Given the description of an element on the screen output the (x, y) to click on. 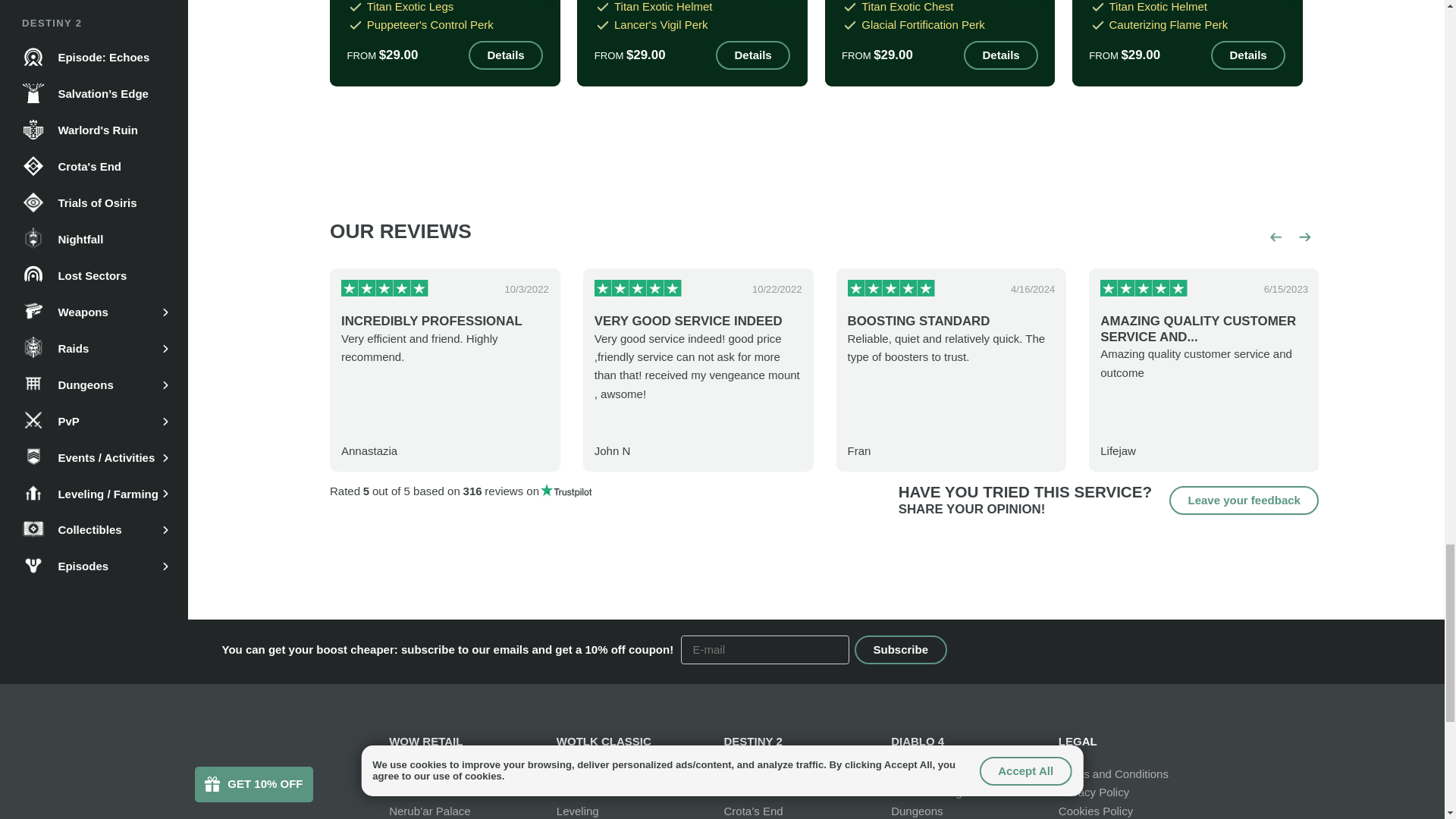
Details (505, 54)
Details (1248, 54)
Details (1000, 54)
Details (753, 54)
